Given the description of an element on the screen output the (x, y) to click on. 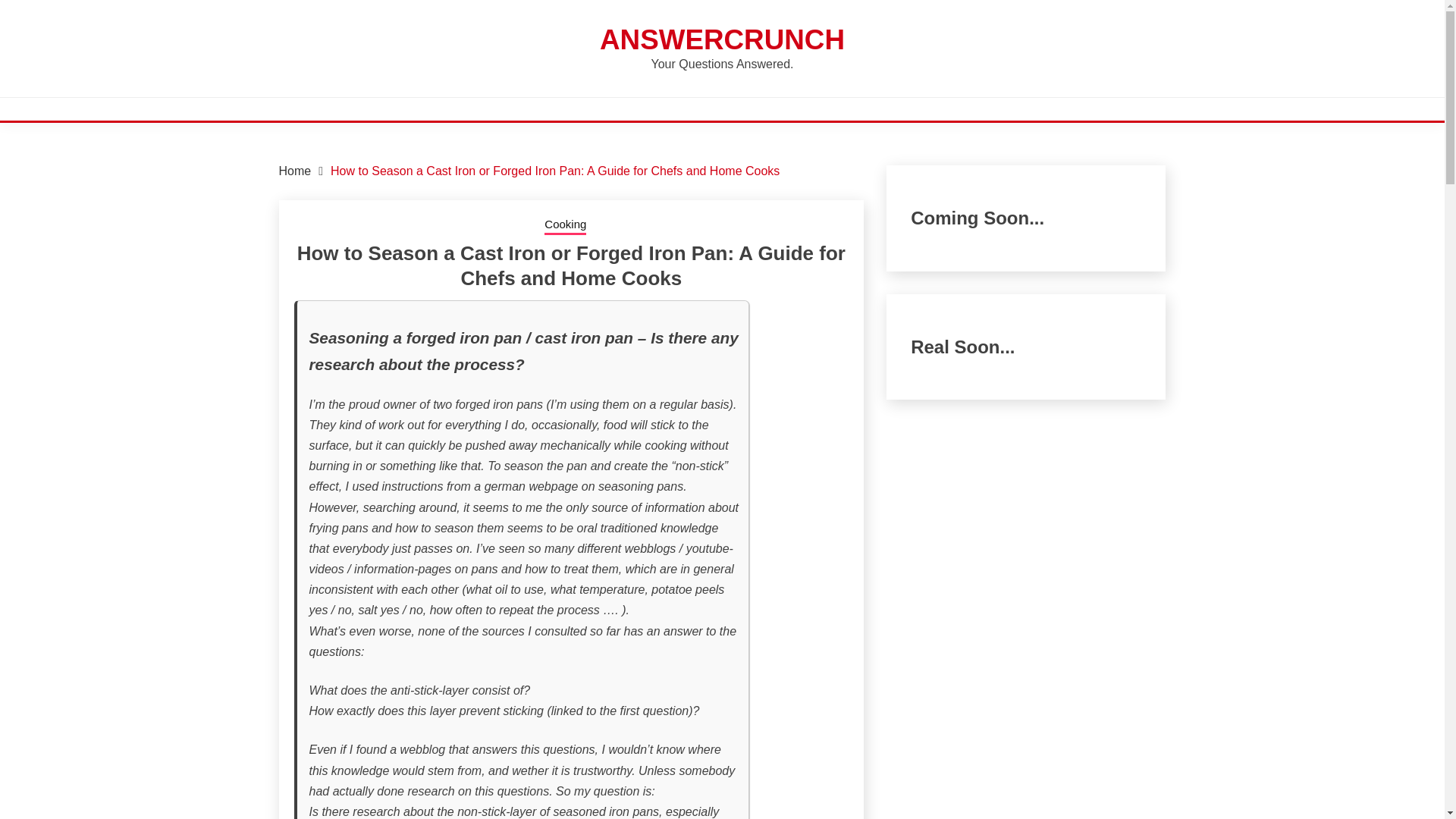
Cooking (565, 225)
Home (295, 170)
ANSWERCRUNCH (721, 39)
